Given the description of an element on the screen output the (x, y) to click on. 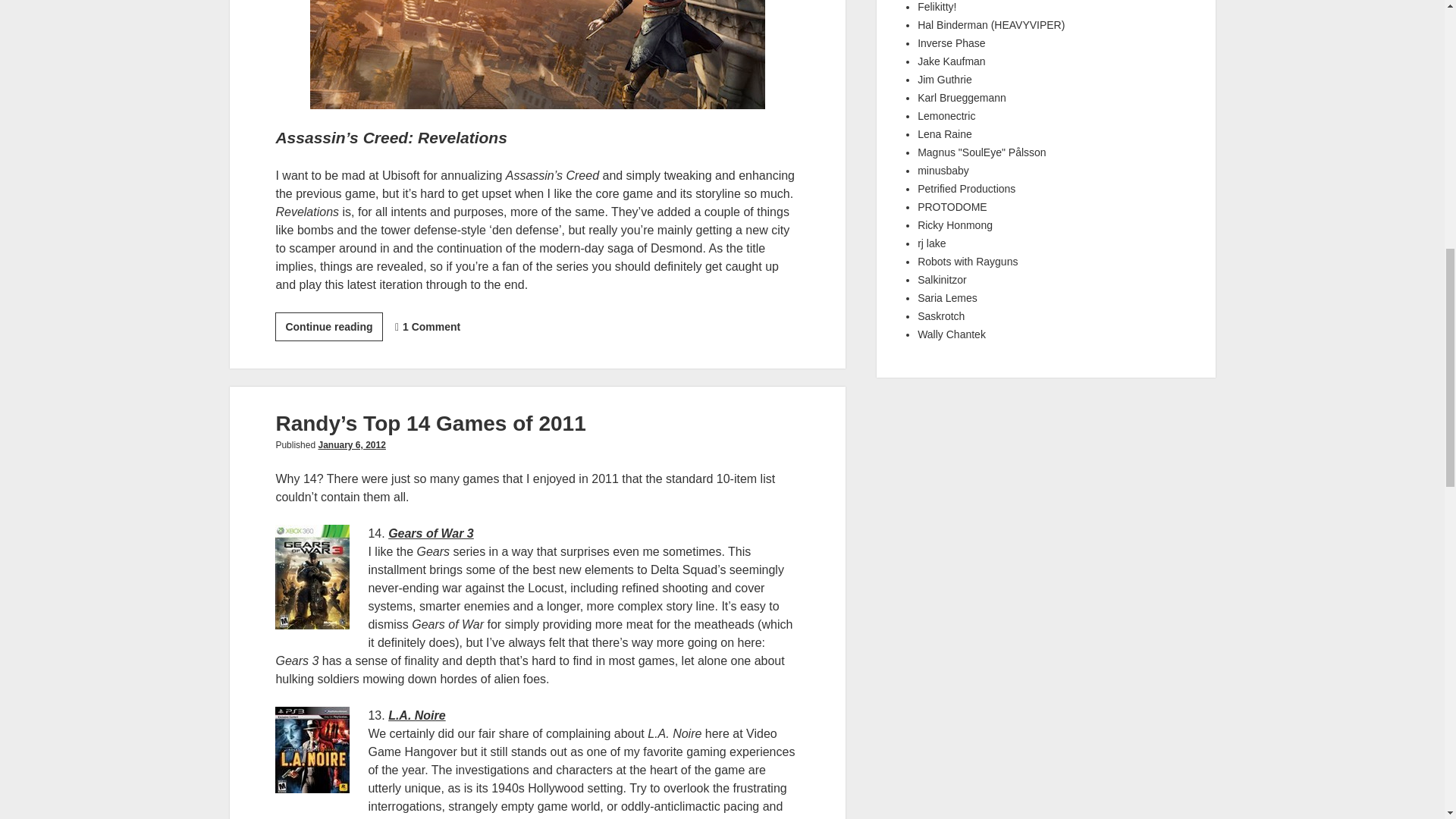
ass-creed-rev (537, 54)
January 6, 2012 (351, 444)
L.A. Noire (416, 715)
Gears of War 3 (431, 533)
1 Comment (431, 326)
